Given the description of an element on the screen output the (x, y) to click on. 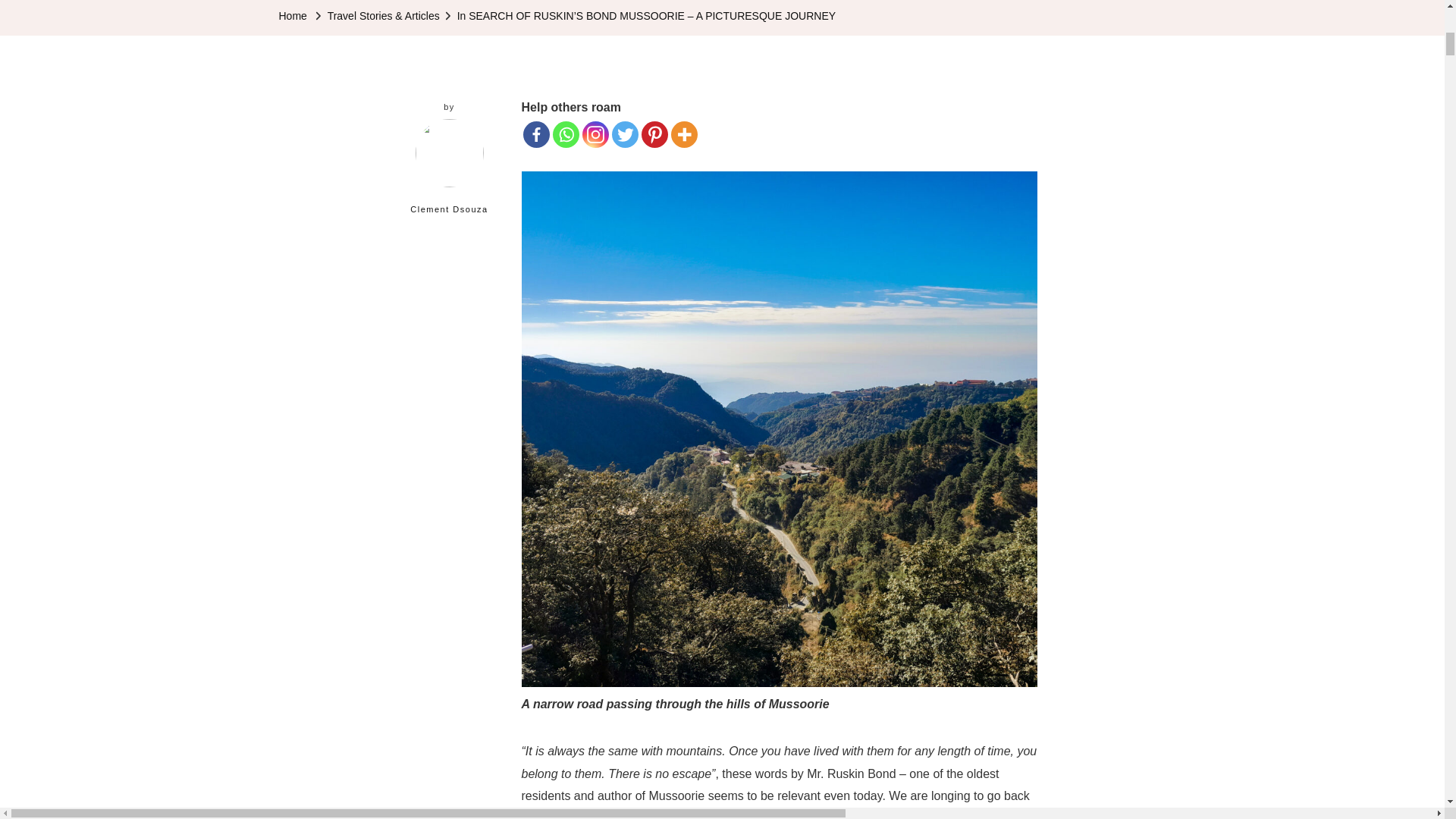
Home (293, 15)
Whatsapp (566, 134)
Instagram (595, 134)
Facebook (536, 134)
More (684, 134)
Pinterest (655, 134)
Twitter (625, 134)
